Given the description of an element on the screen output the (x, y) to click on. 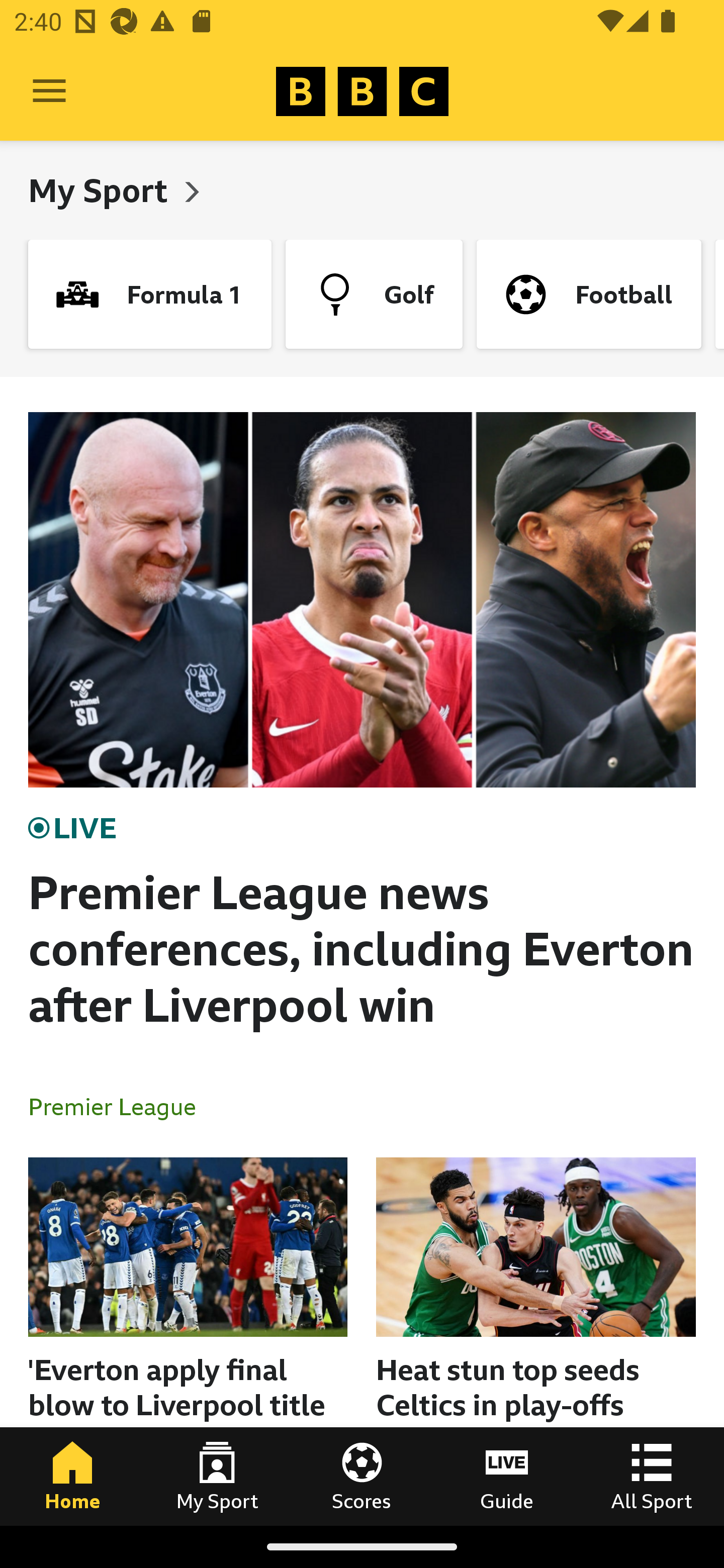
Open Menu (49, 91)
My Sport (101, 190)
Premier League In the section Premier League (119, 1106)
My Sport (216, 1475)
Scores (361, 1475)
Guide (506, 1475)
All Sport (651, 1475)
